Given the description of an element on the screen output the (x, y) to click on. 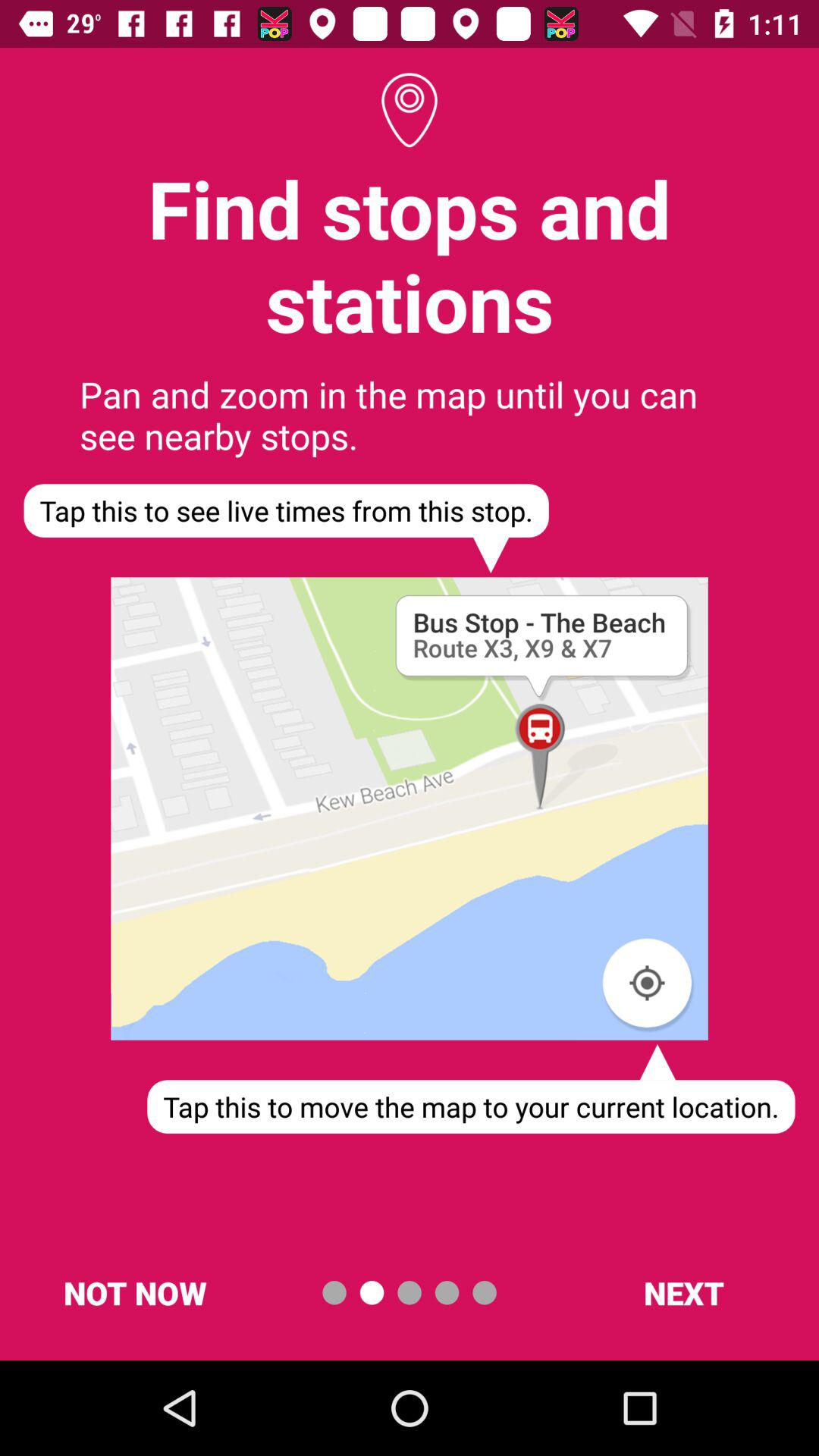
press the next at the bottom right corner (683, 1292)
